Given the description of an element on the screen output the (x, y) to click on. 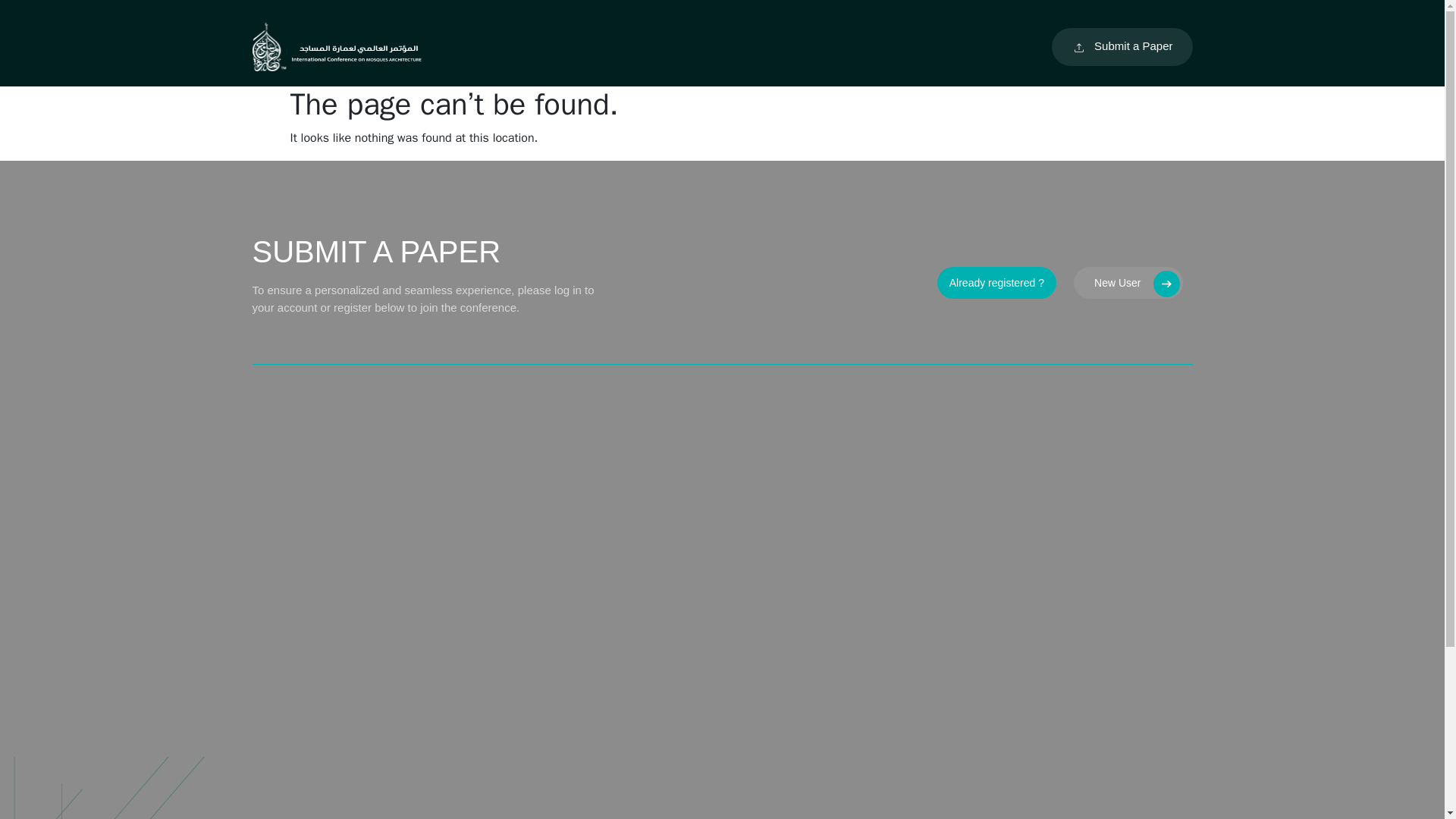
New User (1128, 282)
Already registered ? (997, 282)
Submit a Paper (1121, 46)
